Given the description of an element on the screen output the (x, y) to click on. 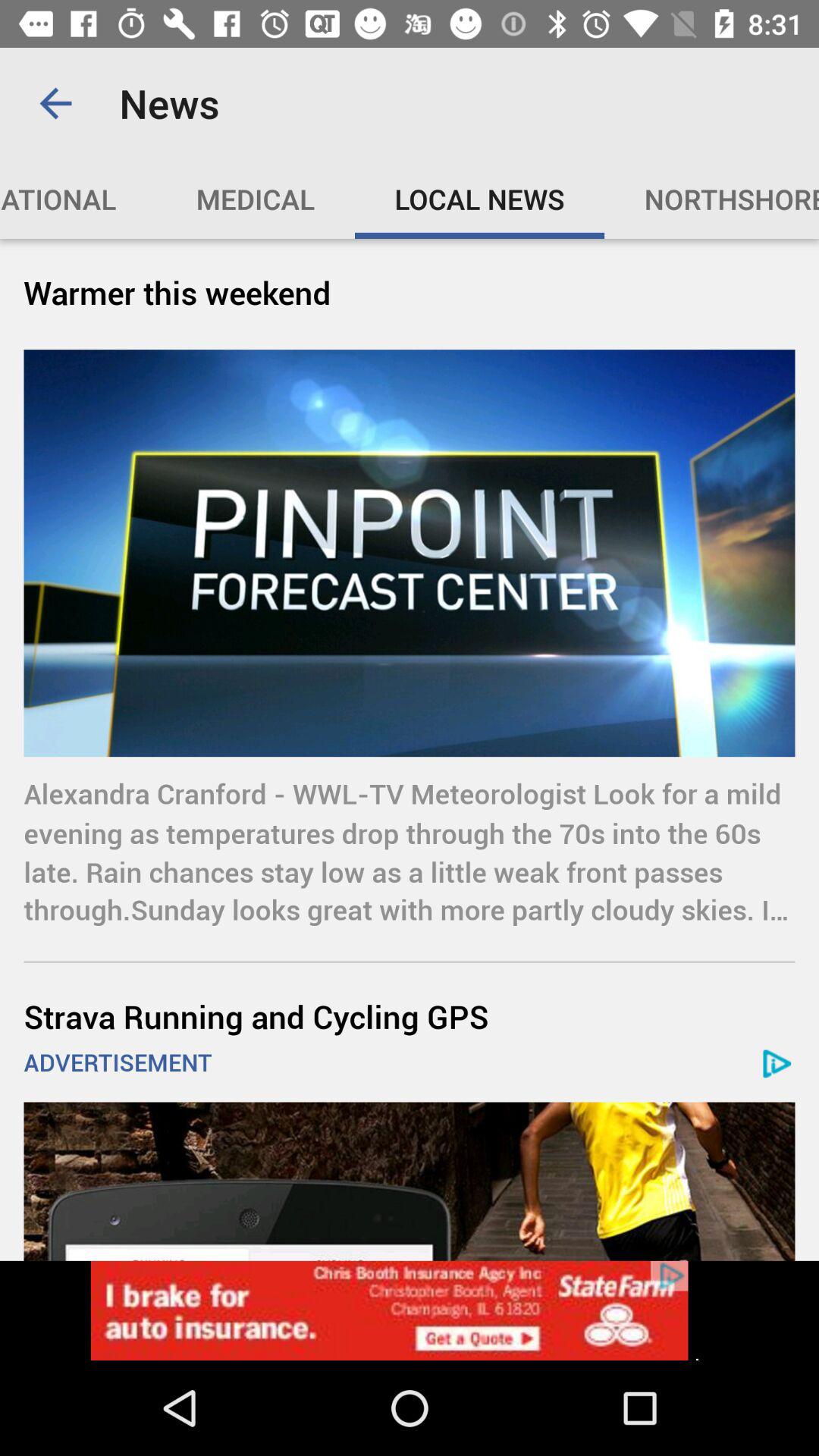
open the item above national icon (55, 103)
